Given the description of an element on the screen output the (x, y) to click on. 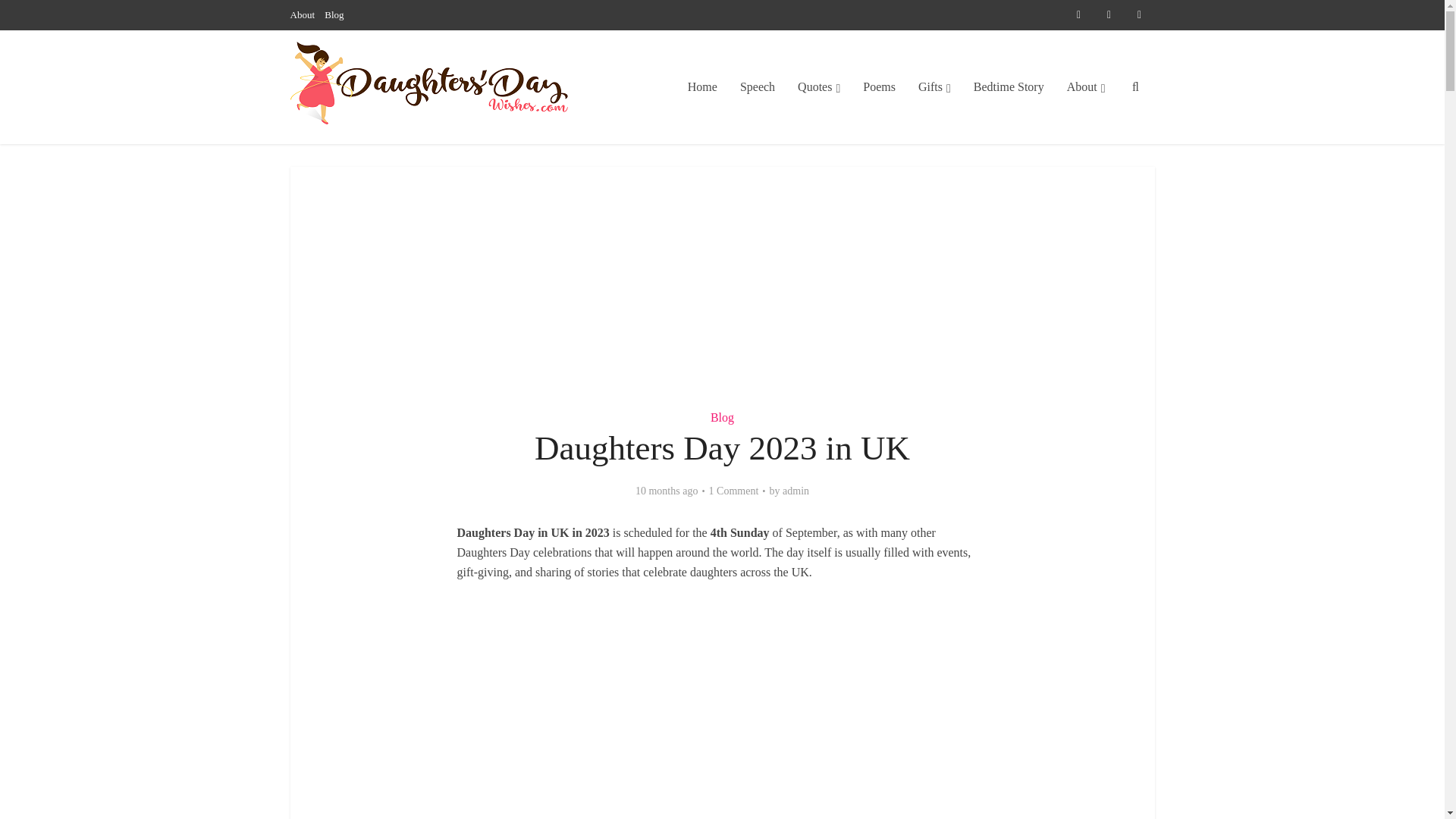
About (301, 14)
admin (796, 490)
Blog (721, 417)
Blog (333, 14)
1 Comment (733, 490)
DaughtersDayWishes.com (431, 82)
Advertisement (722, 711)
